Given the description of an element on the screen output the (x, y) to click on. 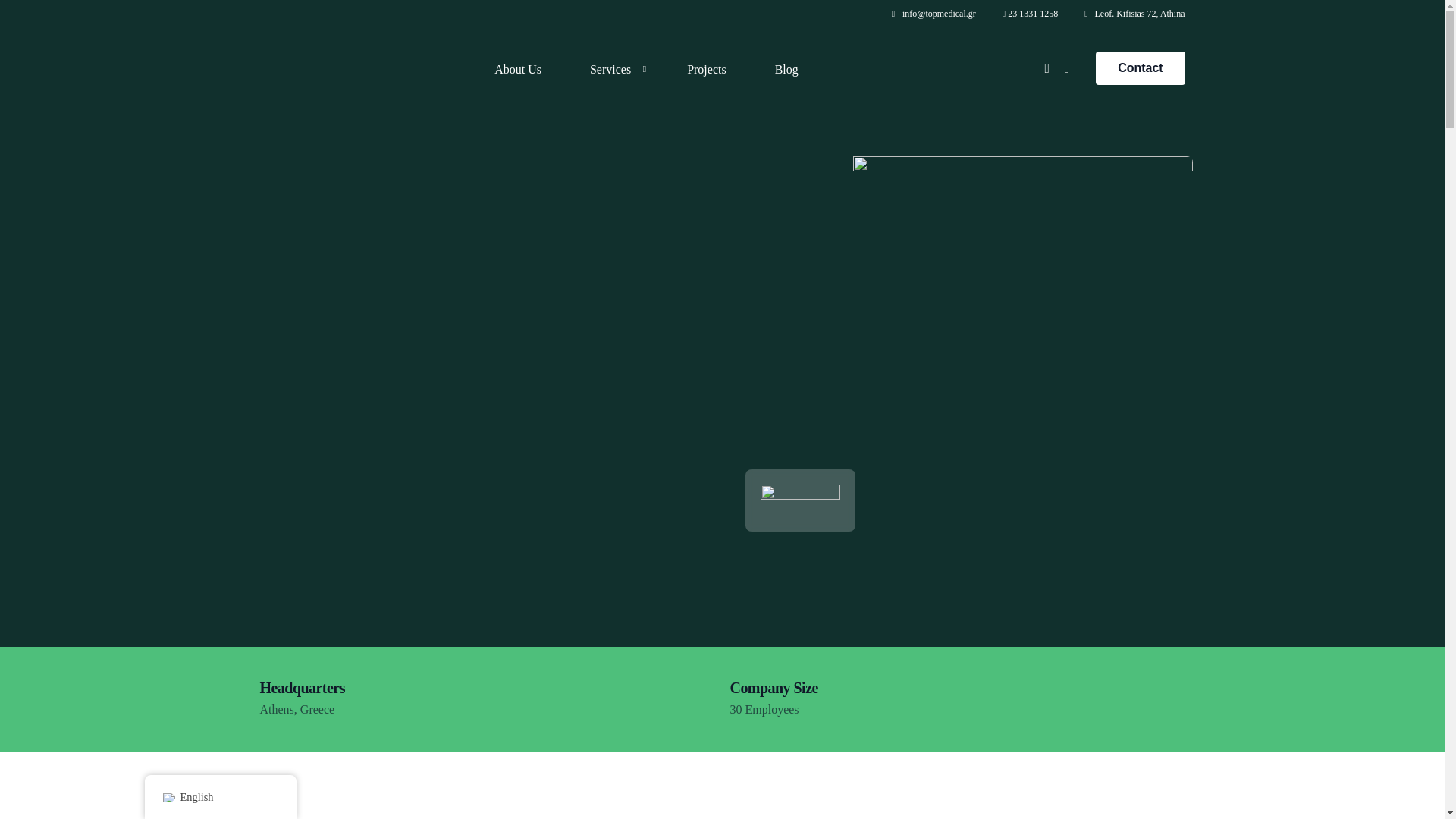
English (168, 797)
About Us (518, 68)
23 1331 1258 (1032, 13)
Services (614, 68)
Projects (706, 68)
Contact (1140, 68)
